Given the description of an element on the screen output the (x, y) to click on. 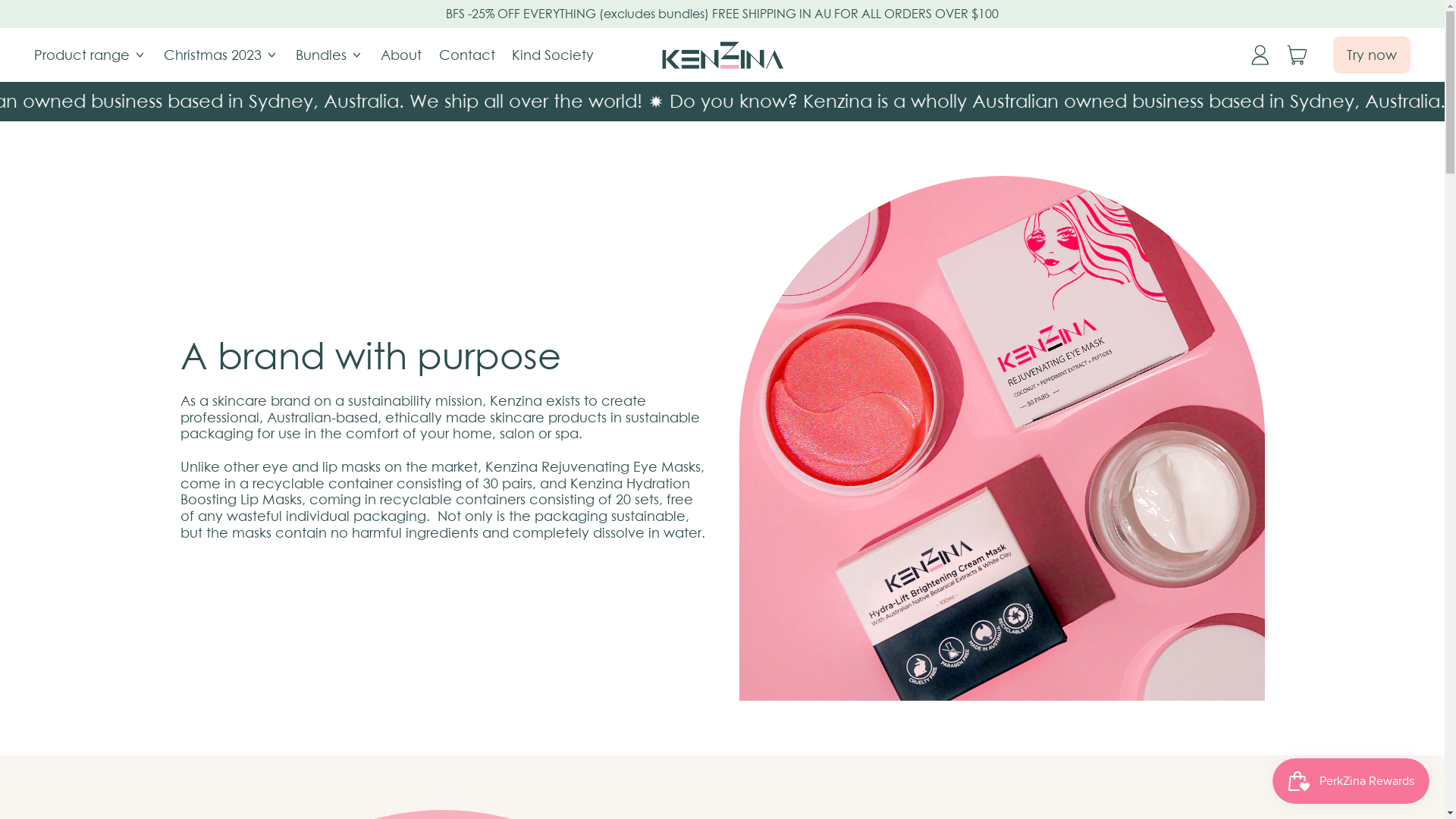
Smile.io Rewards Program Launcher Element type: hover (1350, 780)
Christmas 2023 Element type: text (221, 54)
Log in Element type: text (1259, 55)
Try now Element type: text (1371, 54)
Contact Element type: text (466, 54)
Bundles Element type: text (329, 54)
About Element type: text (401, 54)
Product range Element type: text (90, 54)
Cart
items Element type: text (1297, 55)
Kind Society Element type: text (552, 54)
